Given the description of an element on the screen output the (x, y) to click on. 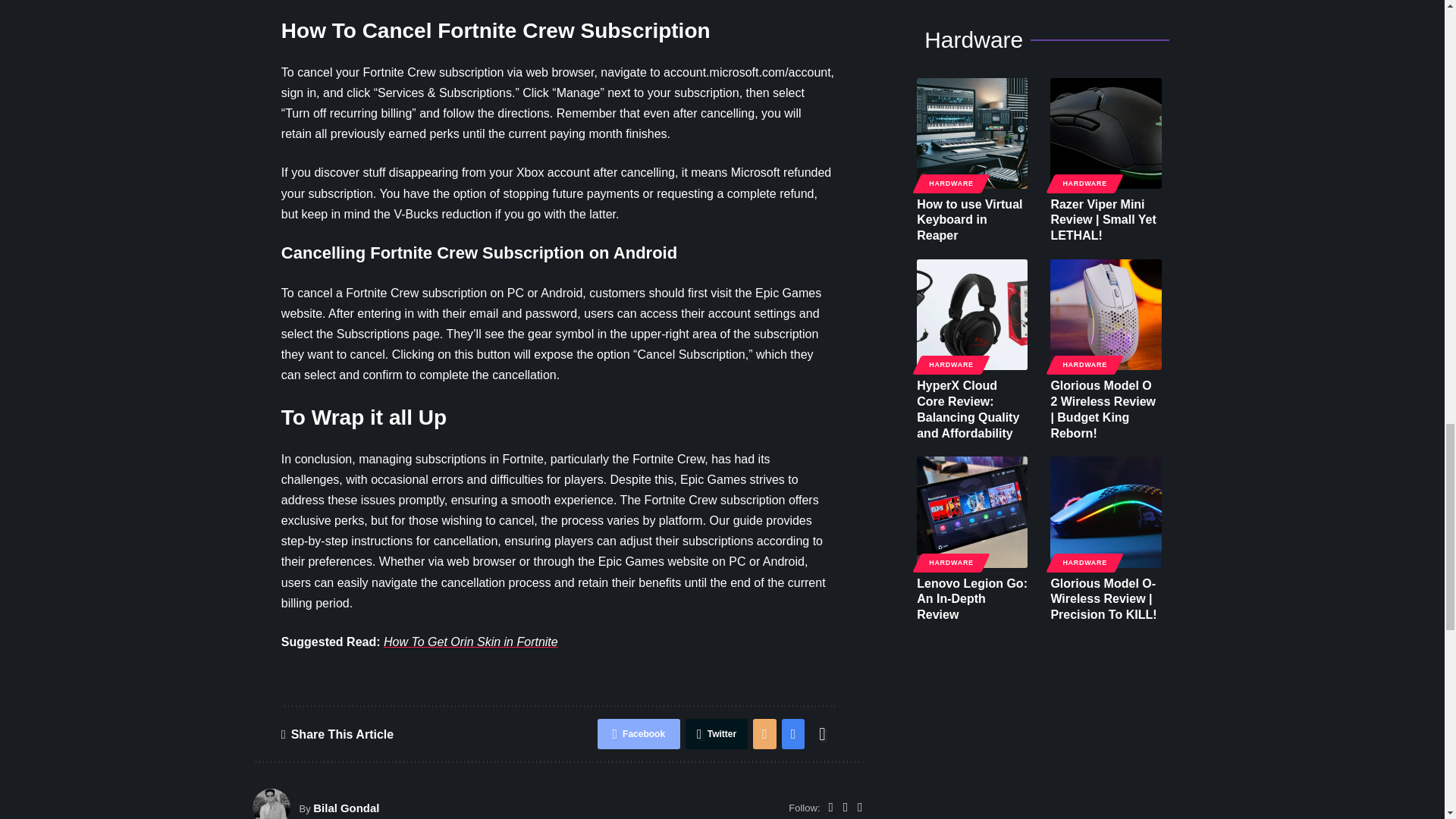
How To Get Orin Skin in Fortnite (470, 641)
